Given the description of an element on the screen output the (x, y) to click on. 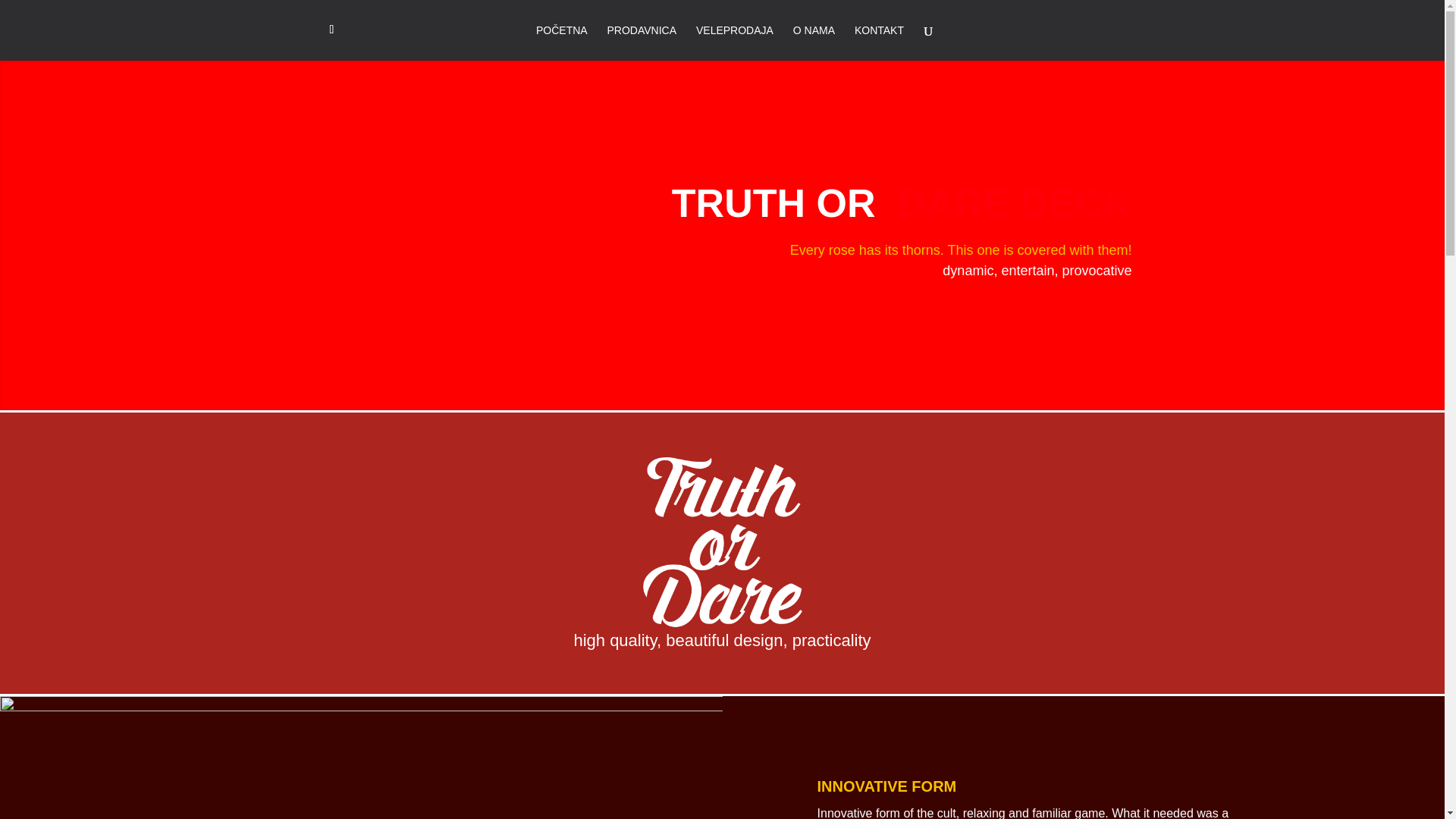
VELEPRODAJA (734, 42)
O NAMA (813, 42)
KONTAKT (879, 42)
PRODAVNICA (642, 42)
